Given the description of an element on the screen output the (x, y) to click on. 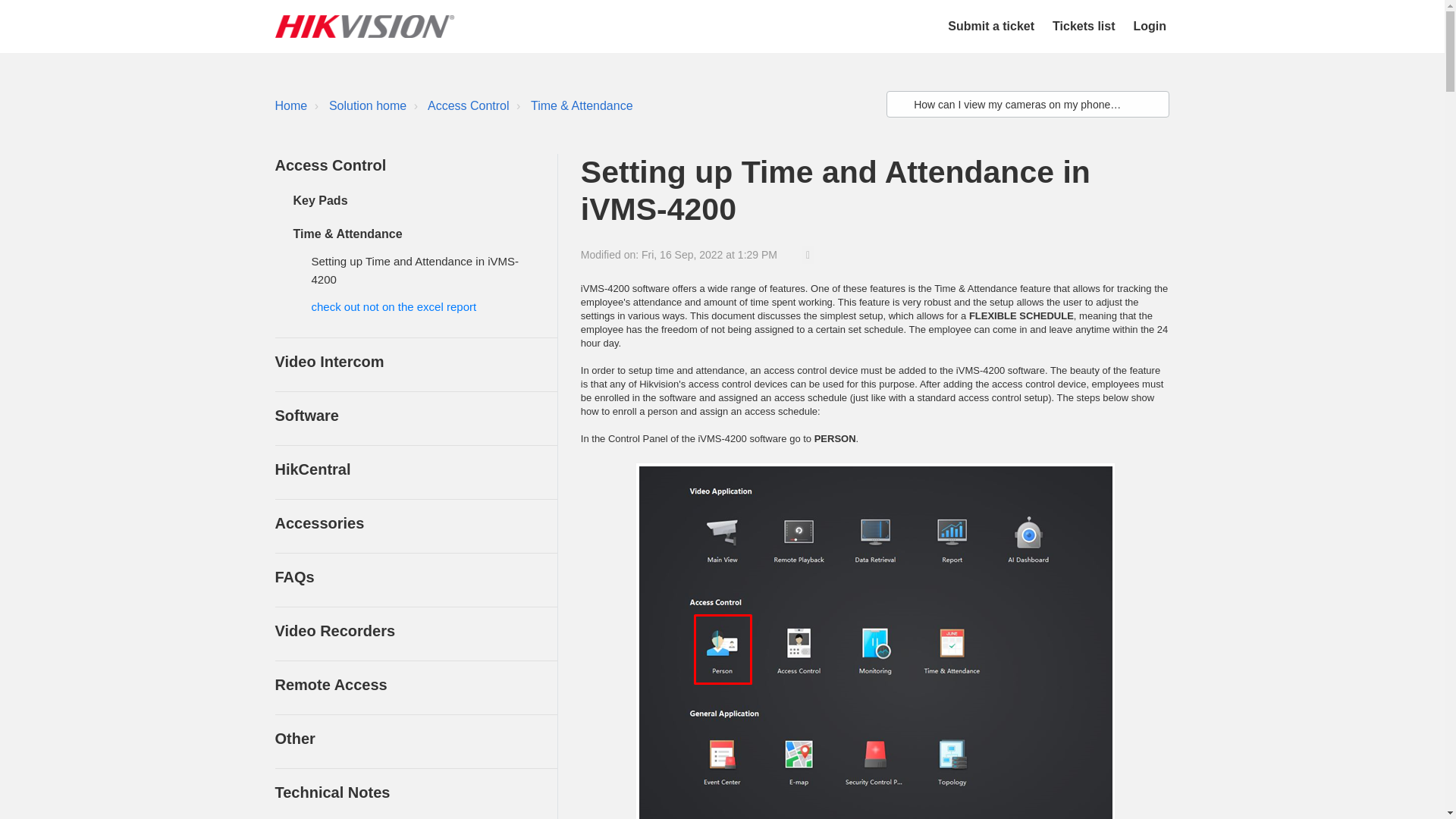
Tickets list (1083, 26)
check out not on the excel report (393, 306)
Submit a ticket (990, 26)
Setting up Time and Attendance in iVMS-4200 (414, 269)
Access Control (459, 106)
Login (1149, 25)
Home (291, 105)
Solution home (359, 106)
Chat (1406, 779)
Access Control (468, 105)
Solution home (367, 105)
